Given the description of an element on the screen output the (x, y) to click on. 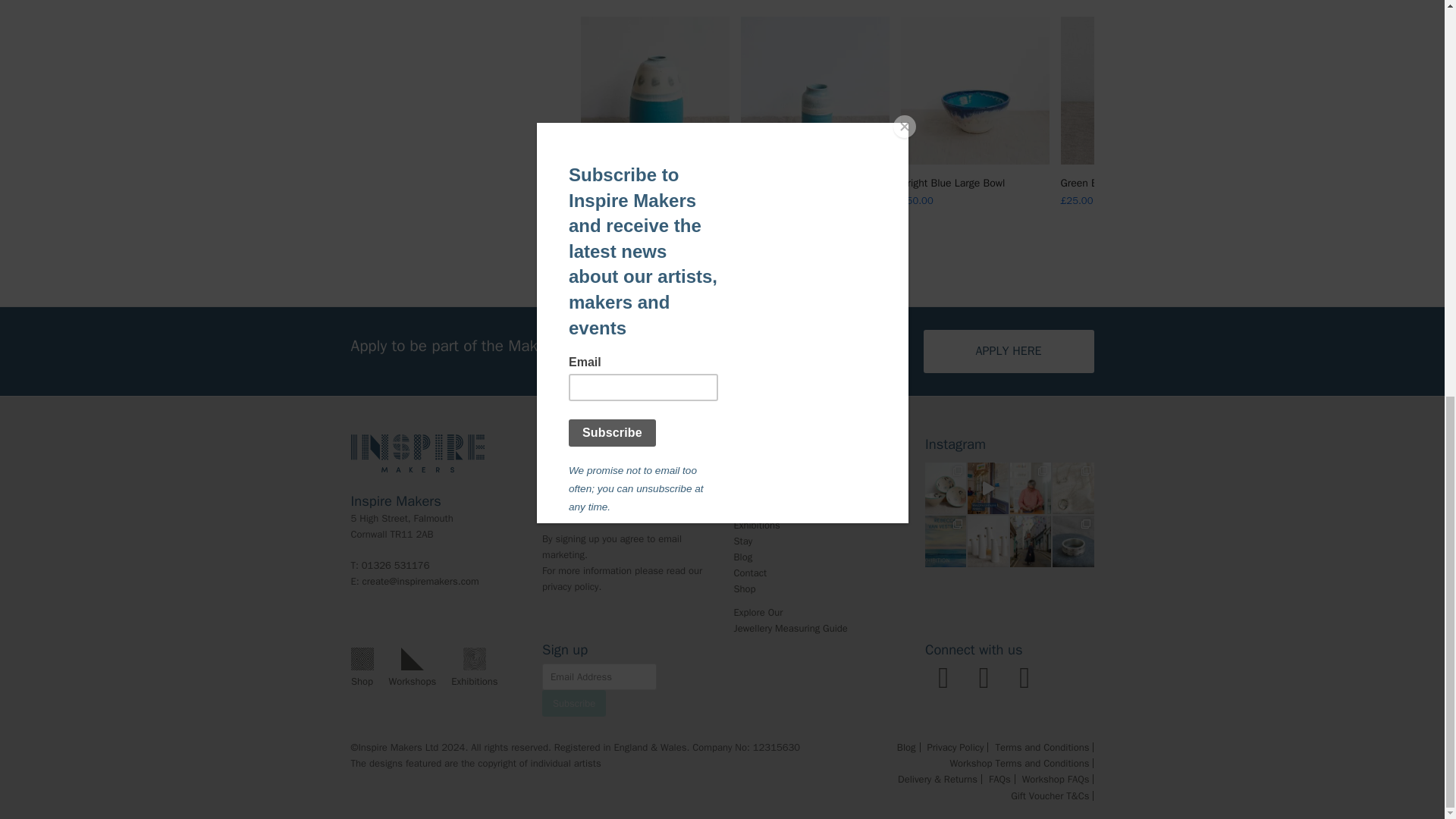
Inspire Makers Logo-footer (416, 453)
Facebook (984, 678)
Subscribe (573, 703)
Instagram (943, 678)
Pinterest (1024, 678)
